Given the description of an element on the screen output the (x, y) to click on. 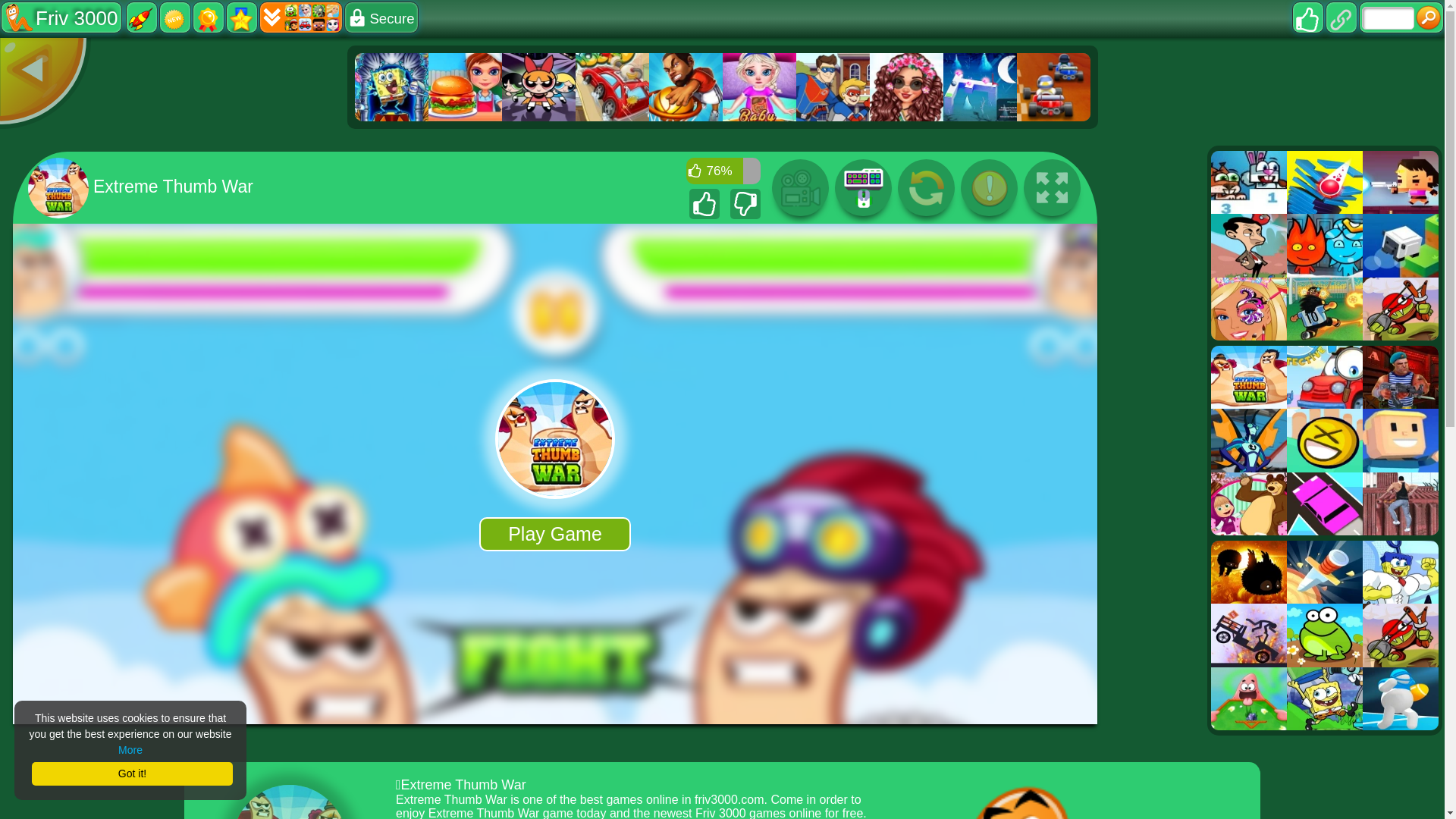
Secure (380, 17)
Friv 3000 (61, 17)
Play Game (554, 533)
